Given the description of an element on the screen output the (x, y) to click on. 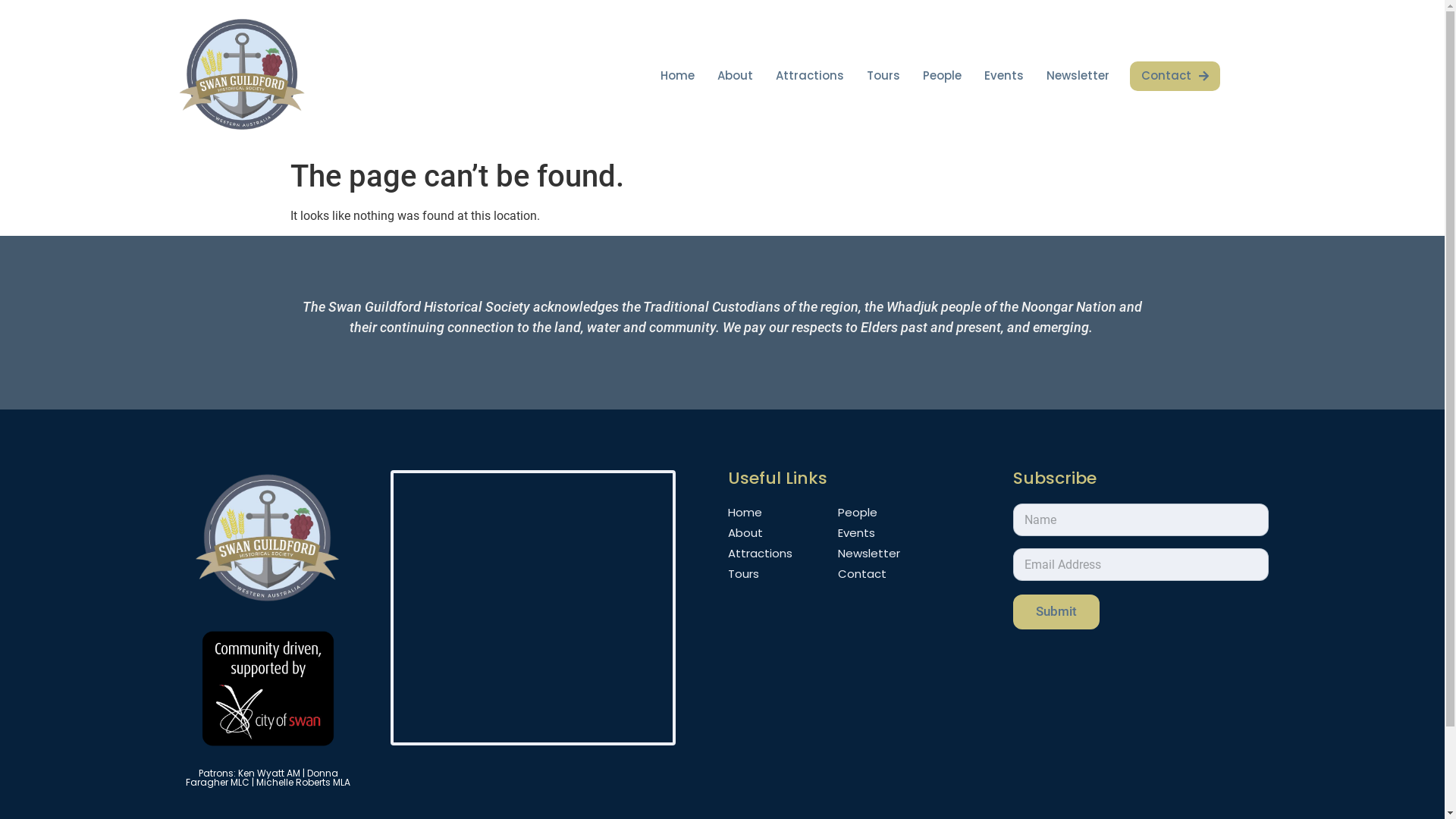
People Element type: text (868, 512)
Events Element type: text (1003, 76)
Submit Element type: text (1056, 611)
Newsletter Element type: text (1077, 76)
Attractions Element type: text (760, 552)
About Element type: text (760, 532)
People Element type: text (941, 76)
Events Element type: text (868, 532)
About Element type: text (735, 76)
Contact Element type: text (868, 573)
Attractions Element type: text (809, 76)
Swan Guildford Historical Society Element type: hover (533, 607)
Tours Element type: text (760, 573)
Home Element type: text (677, 76)
Tours Element type: text (883, 76)
Contact Element type: text (1174, 76)
Home Element type: text (760, 512)
Newsletter Element type: text (868, 552)
